Given the description of an element on the screen output the (x, y) to click on. 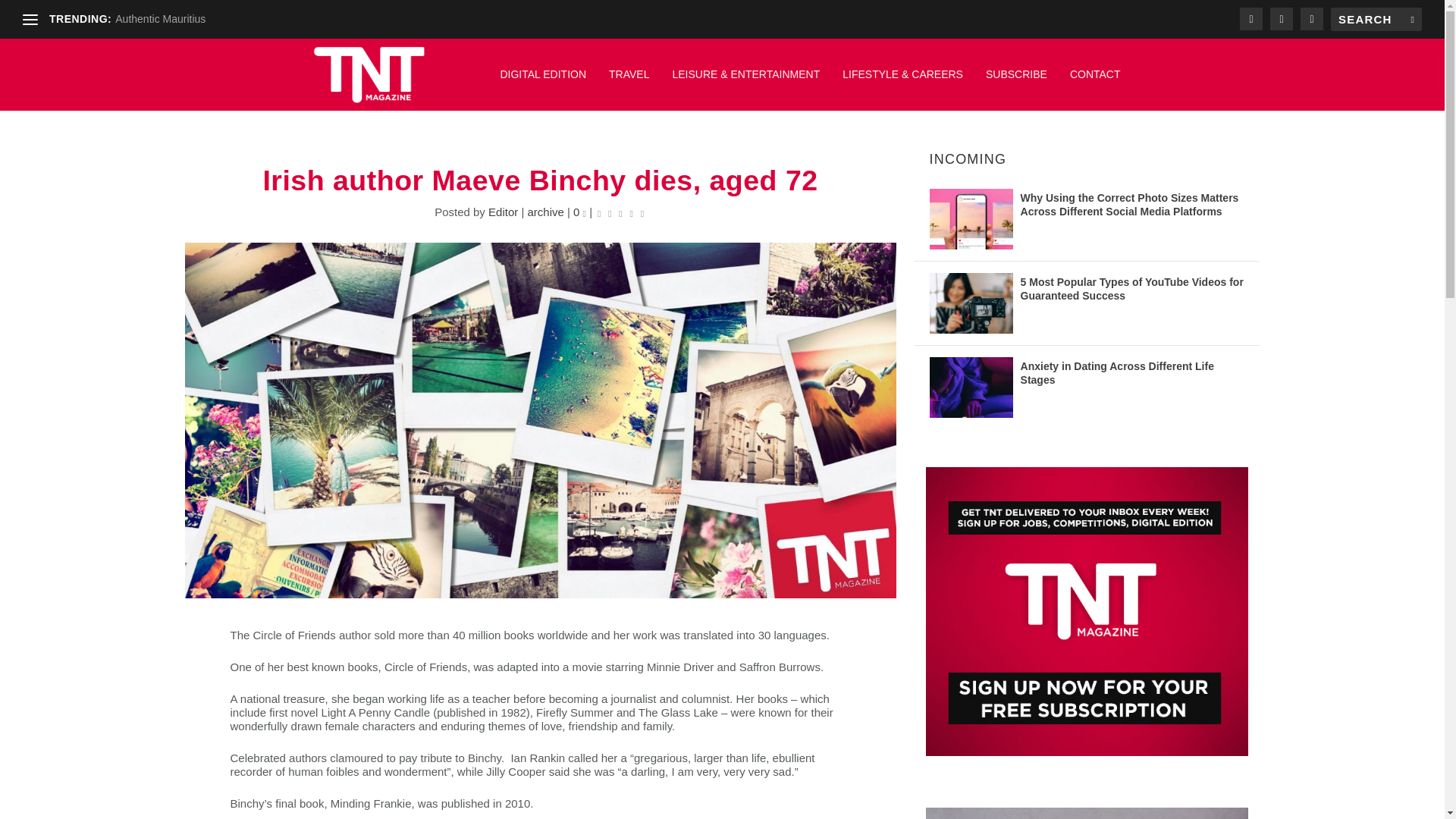
archive (545, 211)
Search for: (1376, 19)
Authentic Mauritius (160, 19)
DIGITAL EDITION (542, 82)
SUBSCRIBE (1015, 82)
Posts by Editor (502, 211)
0 (579, 211)
Rating: 0.00 (620, 212)
Editor (502, 211)
